Given the description of an element on the screen output the (x, y) to click on. 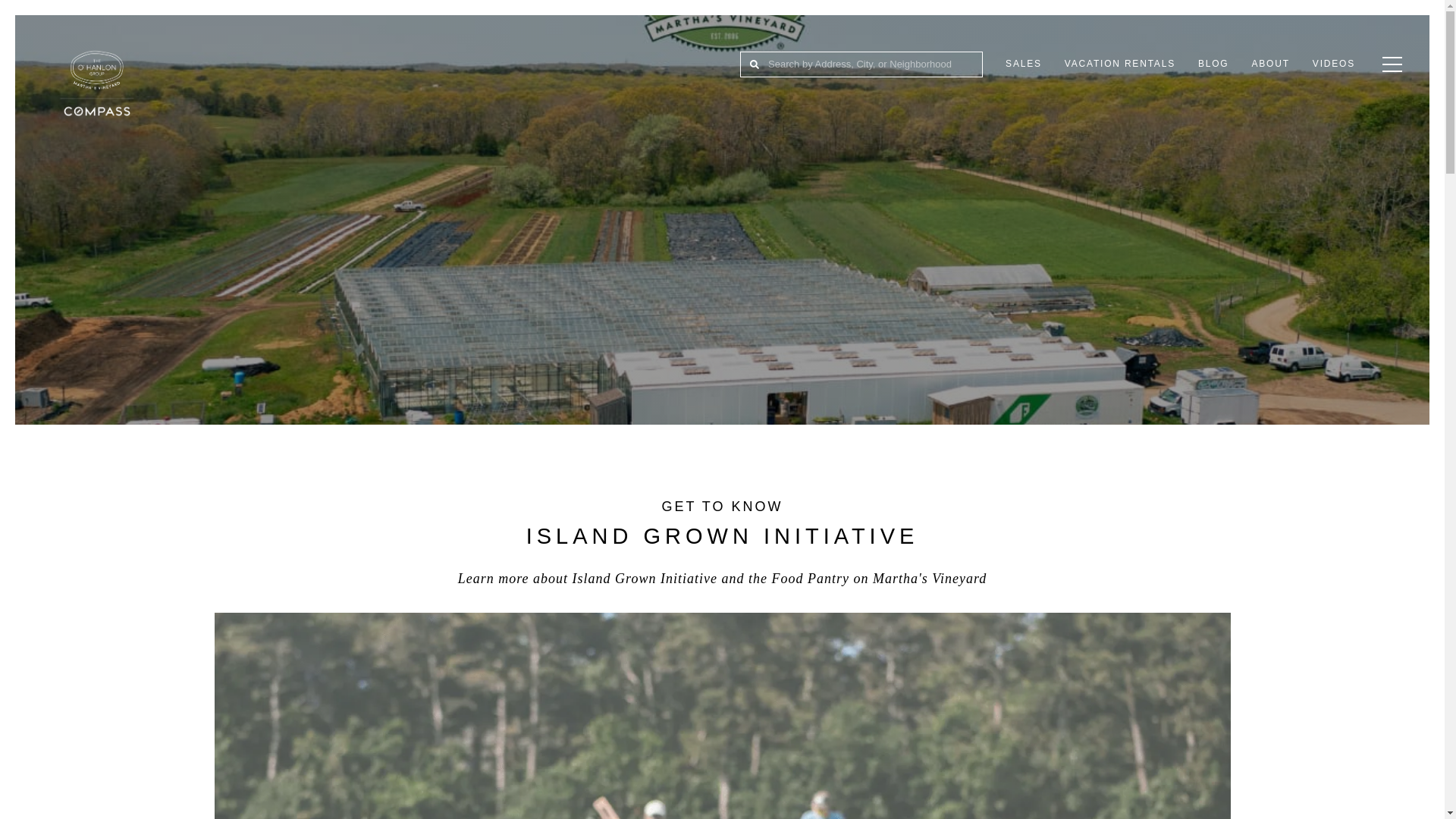
BLOG (1213, 63)
VACATION RENTALS (1119, 63)
SALES (1023, 63)
VIDEOS (1334, 63)
ABOUT (1270, 63)
